Given the description of an element on the screen output the (x, y) to click on. 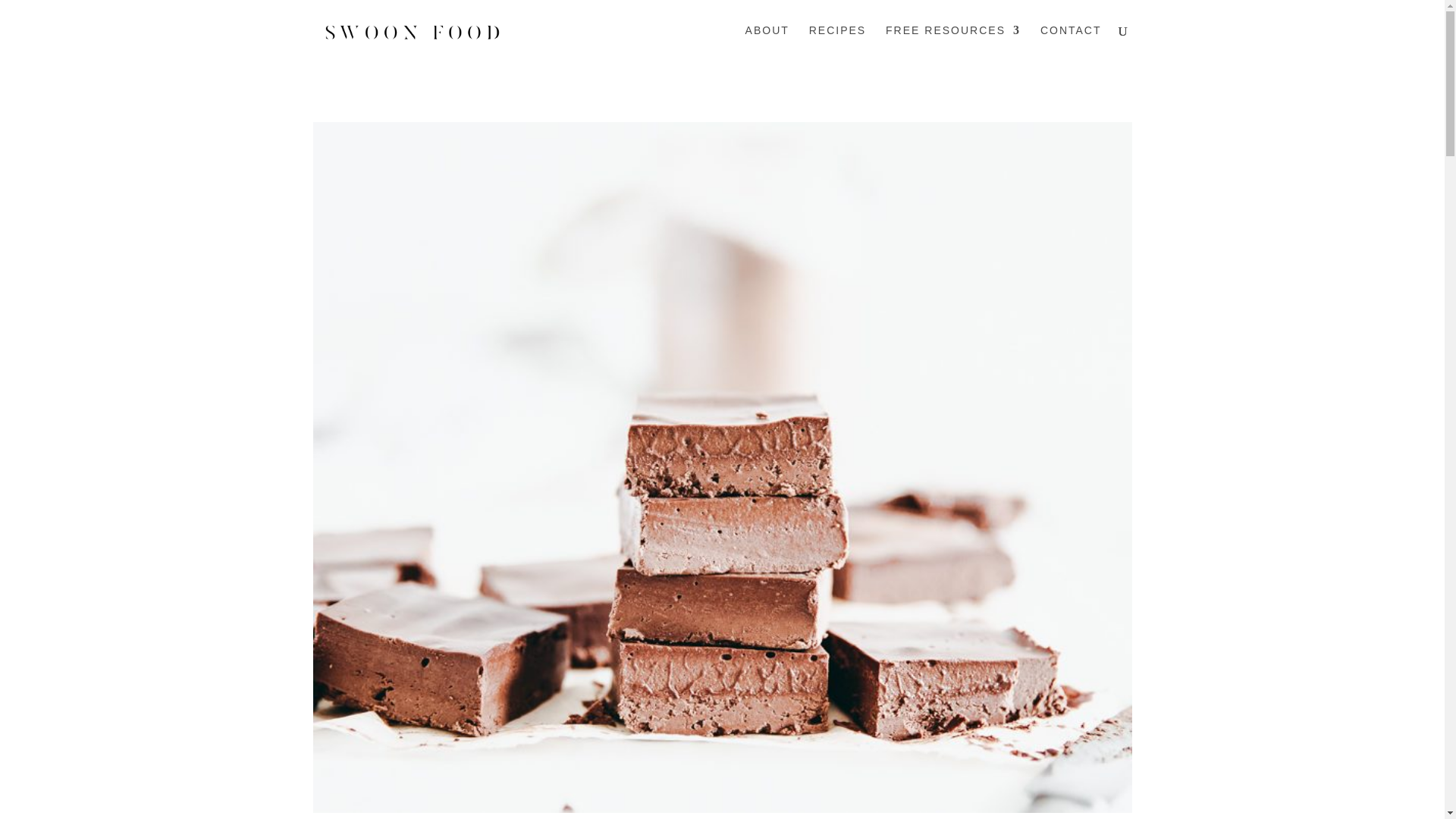
FREE RESOURCES (952, 42)
RECIPES (837, 42)
CONTACT (1071, 42)
ABOUT (767, 42)
